Given the description of an element on the screen output the (x, y) to click on. 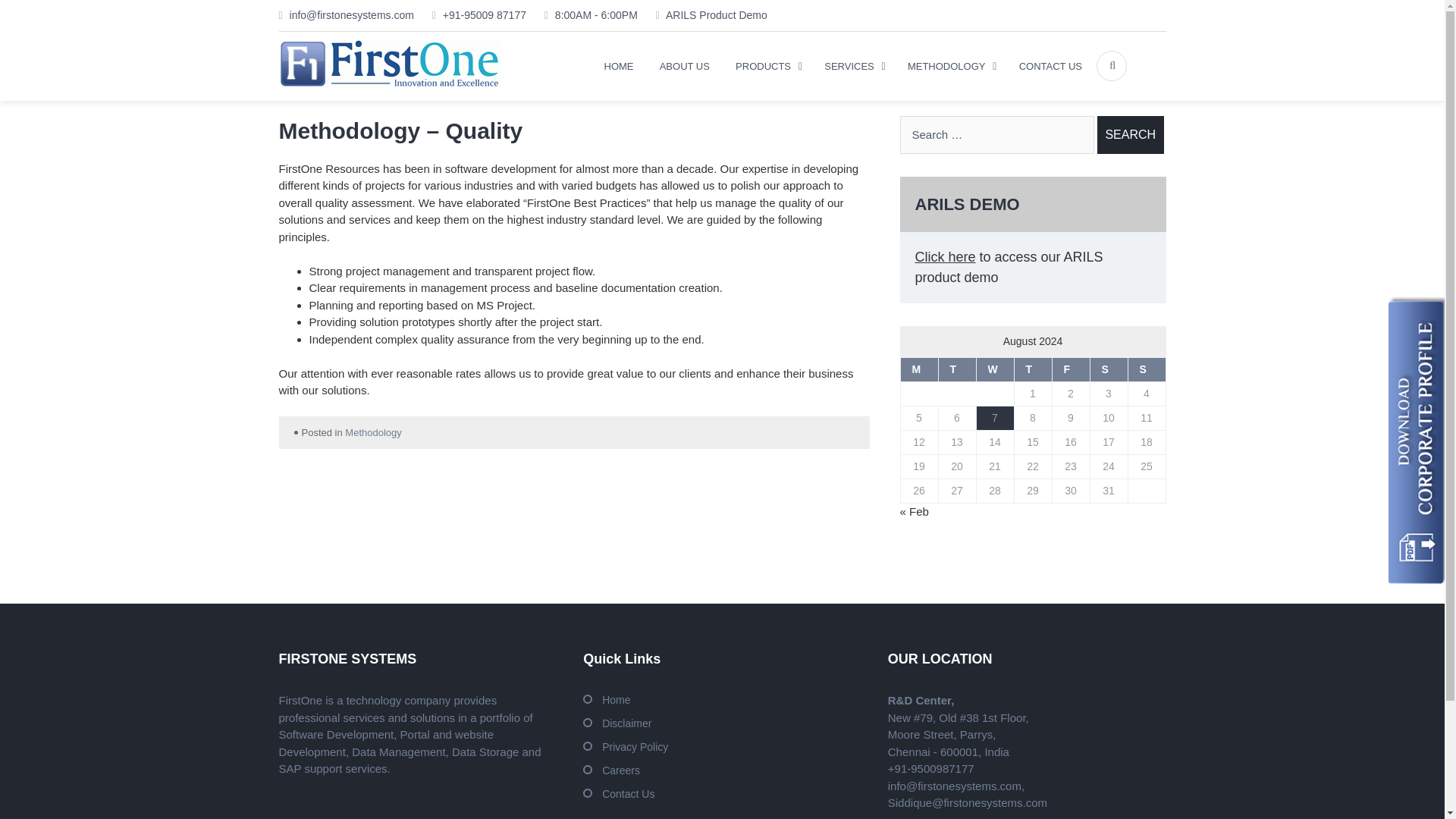
Wednesday (994, 369)
ARILS Product Demo (703, 15)
SERVICES (852, 66)
Search (1130, 134)
Search (1130, 134)
Monday (918, 369)
ABOUT US (683, 66)
HOME (618, 66)
Thursday (1032, 369)
Sunday (1146, 369)
Tuesday (956, 369)
Friday (1070, 369)
Saturday (1107, 369)
PRODUCTS (766, 66)
